Given the description of an element on the screen output the (x, y) to click on. 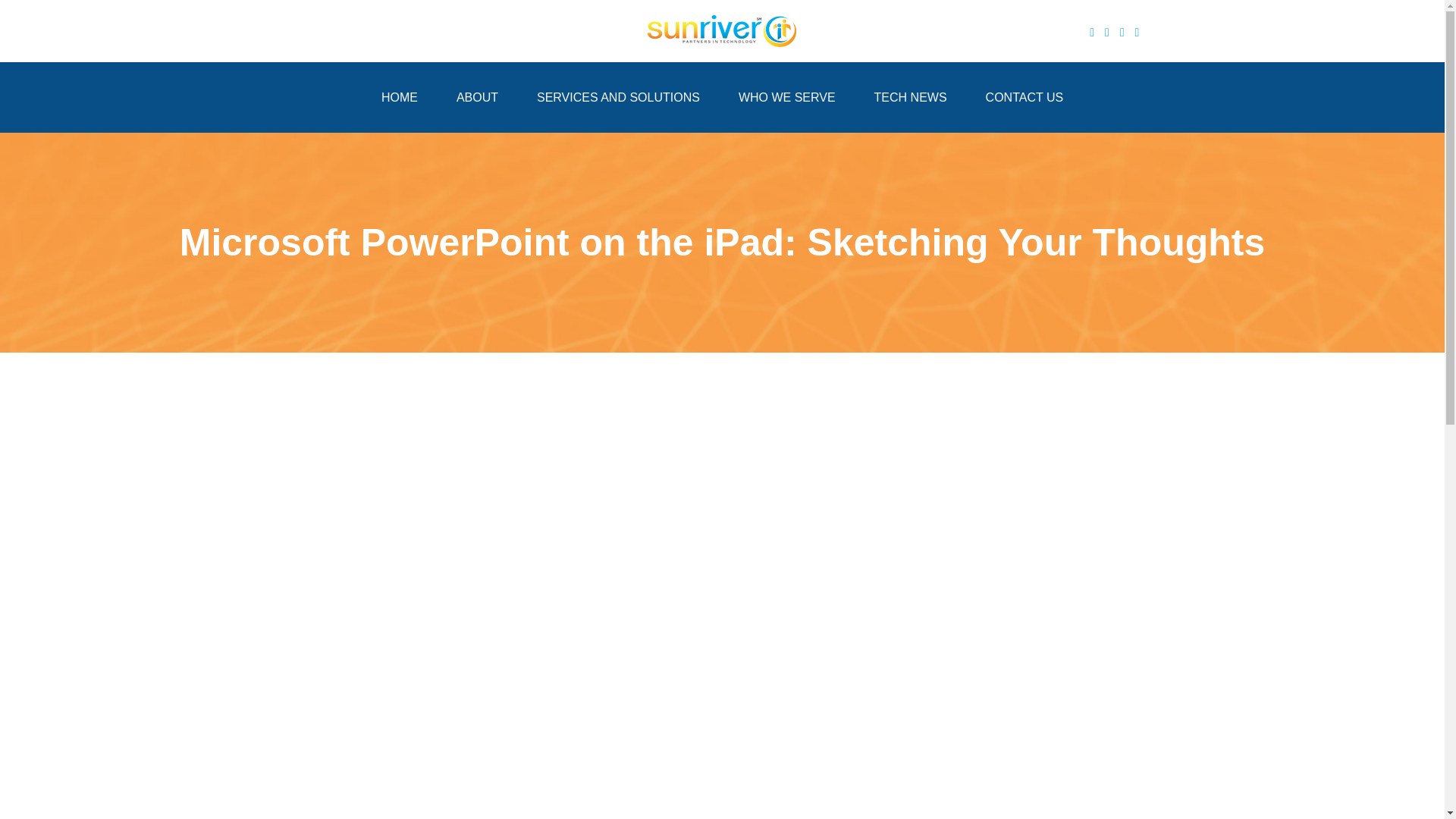
SERVICES AND SOLUTIONS (618, 96)
WHO WE SERVE (786, 96)
HOME (399, 96)
TECH NEWS (911, 96)
CONTACT US (1024, 96)
logo (721, 30)
ABOUT (477, 96)
